Given the description of an element on the screen output the (x, y) to click on. 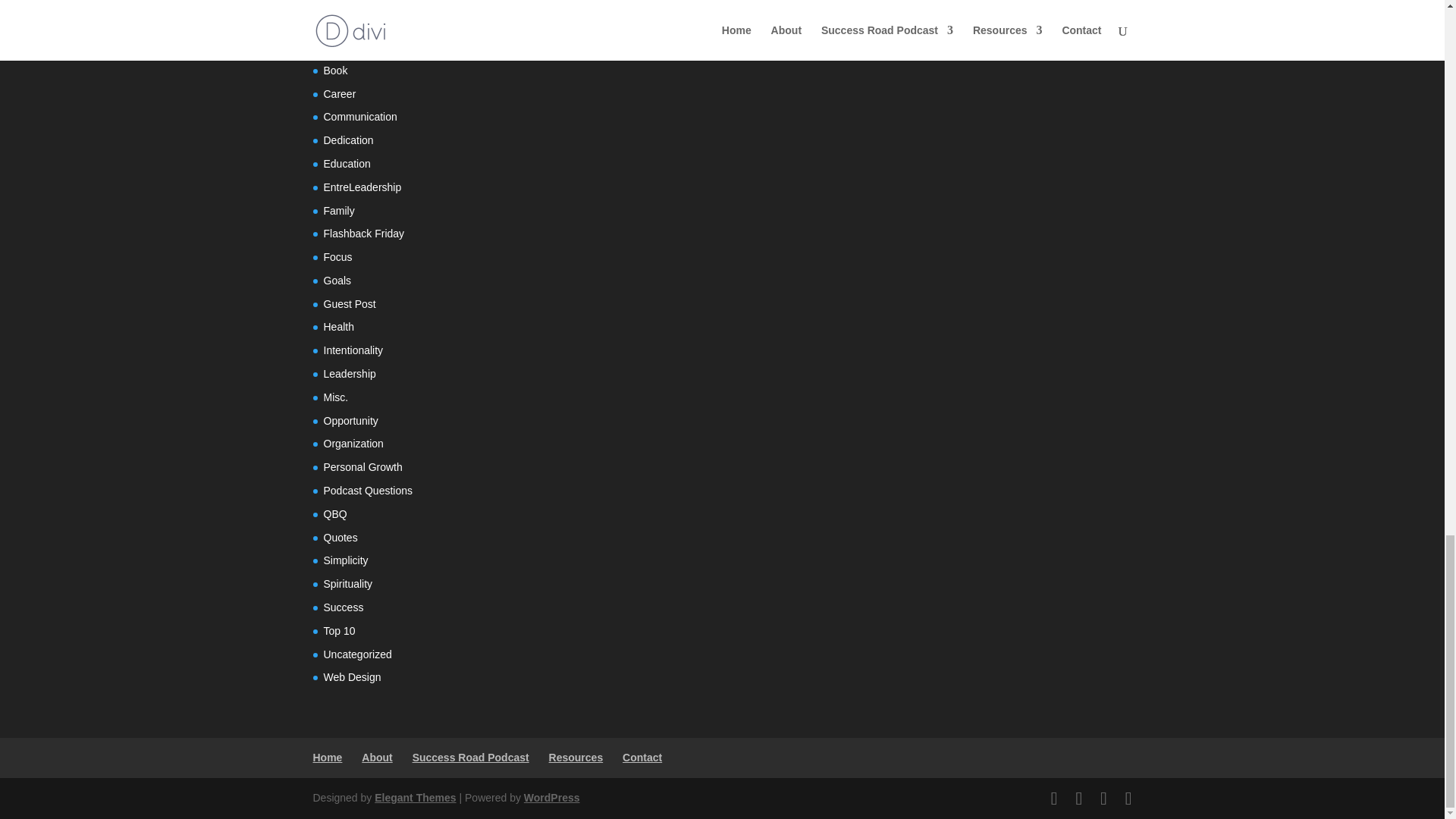
Premium WordPress Themes (414, 797)
